Given the description of an element on the screen output the (x, y) to click on. 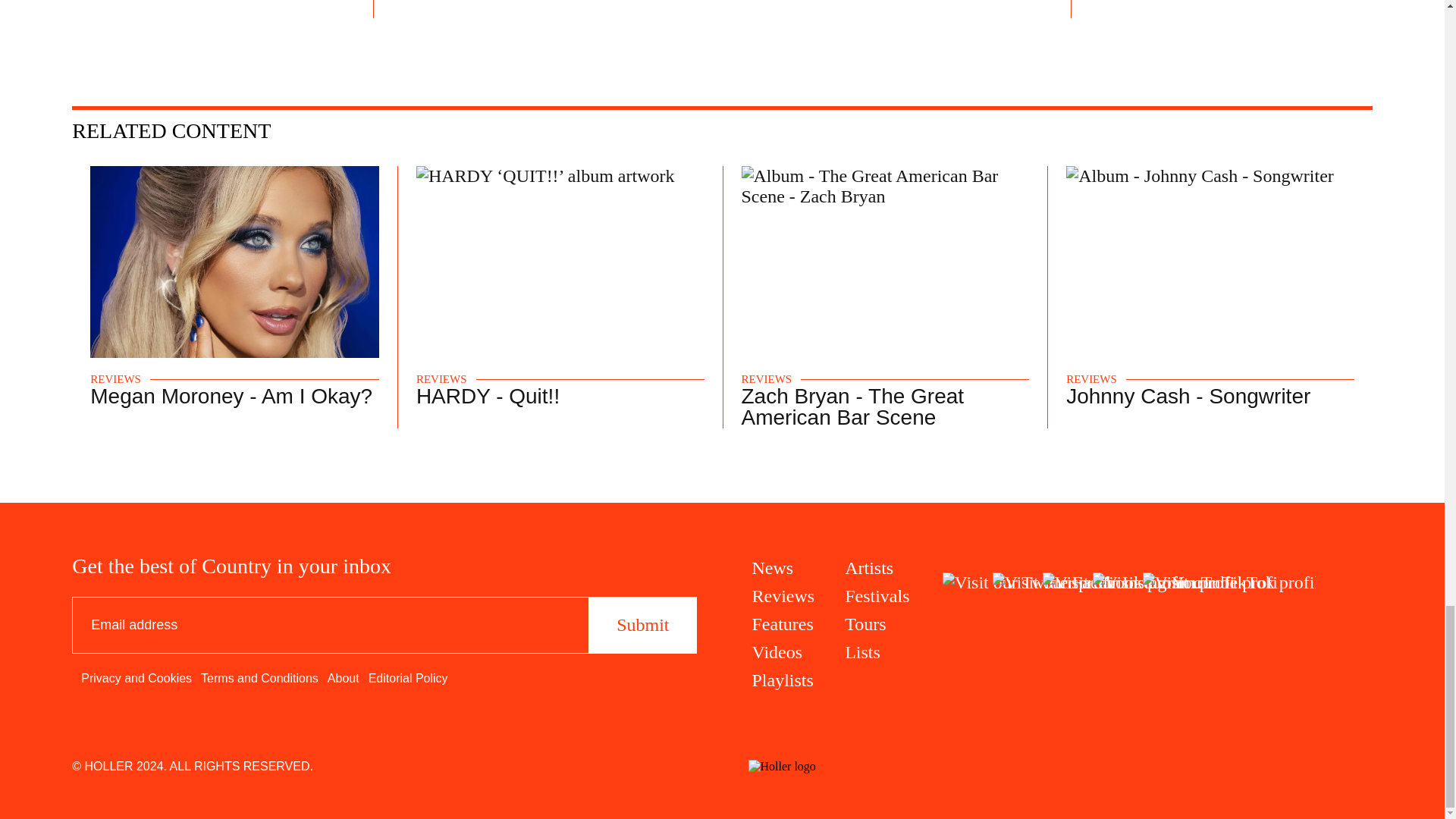
Reviews (783, 596)
Videos (783, 652)
Privacy and Cookies (136, 678)
REVIEWS (766, 379)
Zach Bryan - The Great American Bar Scene (852, 406)
Terms and Conditions (259, 678)
Artists (876, 567)
REVIEWS (441, 379)
Johnny Cash - Songwriter (1187, 395)
HARDY - Quit!! (487, 395)
Editorial Policy (408, 678)
REVIEWS (1090, 379)
News (783, 567)
Playlists (783, 680)
Megan Moroney - Am I Okay? (231, 395)
